Given the description of an element on the screen output the (x, y) to click on. 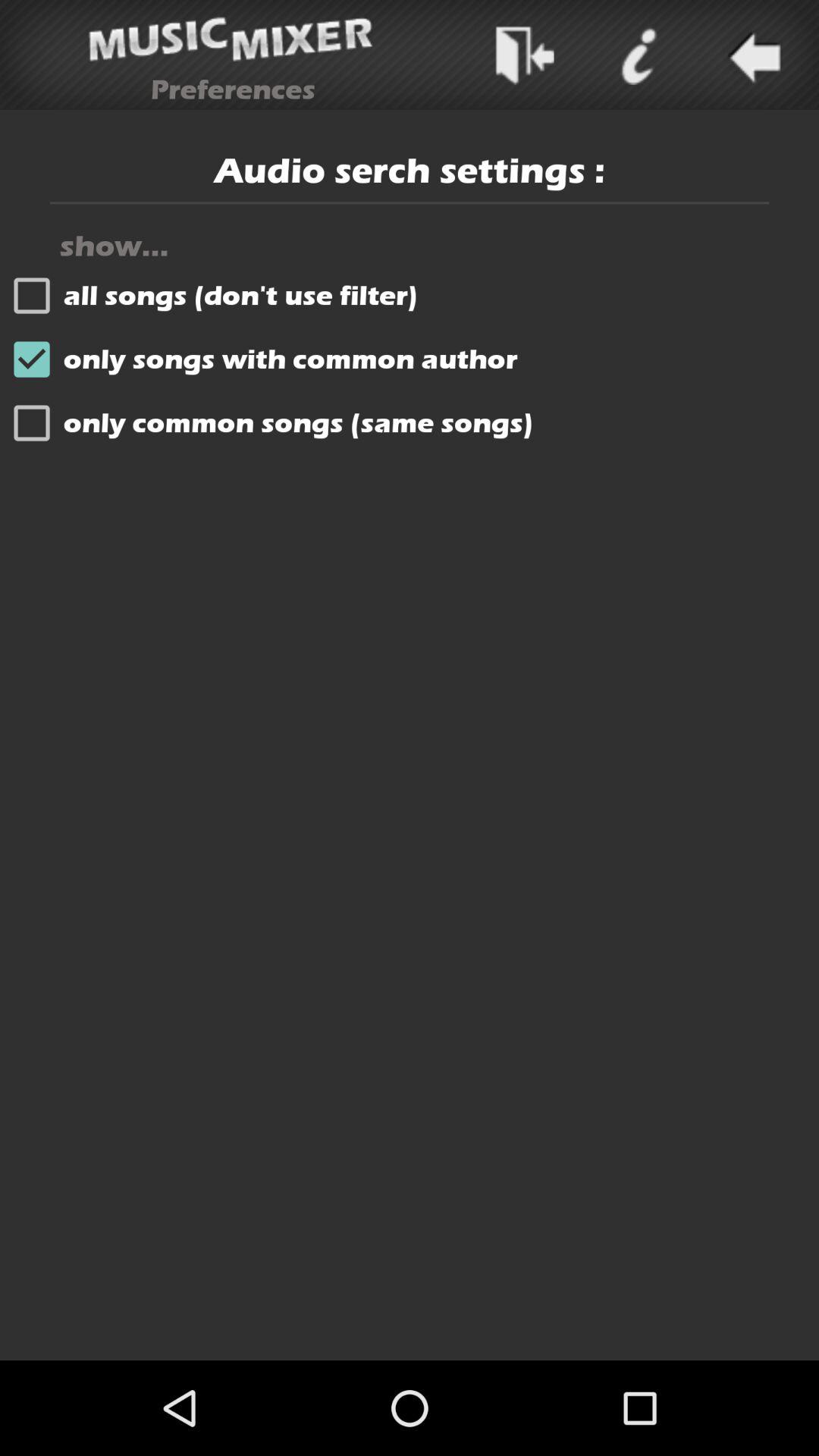
backword to option (751, 54)
